Given the description of an element on the screen output the (x, y) to click on. 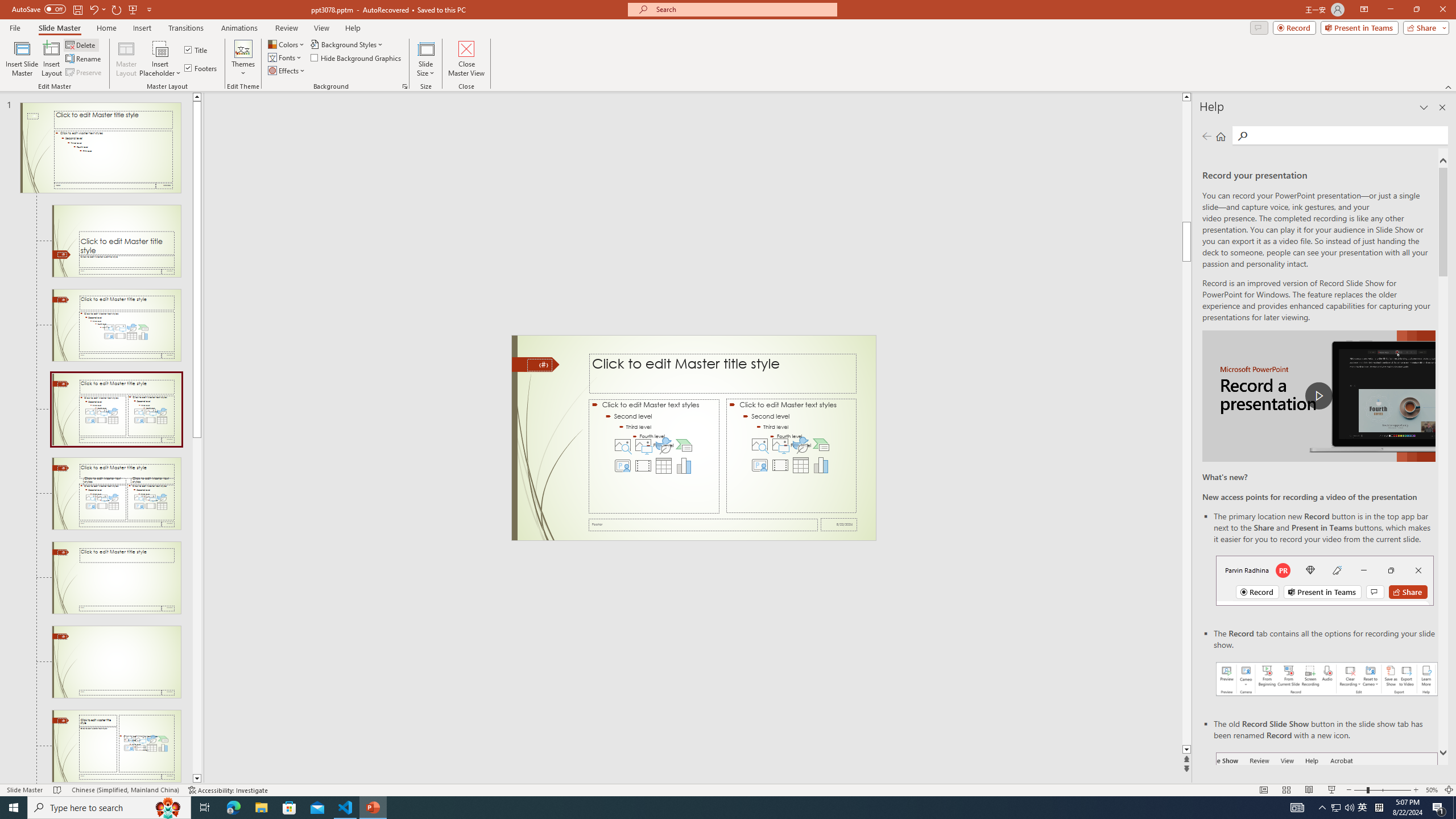
Previous page (1206, 136)
Slide Title Only Layout: used by no slides (116, 661)
Slide Title Slide Layout: used by slide(s) 1 (116, 240)
Fonts (285, 56)
Title TextBox (722, 373)
Freeform 11 (535, 364)
Page up (1186, 161)
Hide Background Graphics (356, 56)
Slide Blank Layout: used by no slides (116, 746)
